Given the description of an element on the screen output the (x, y) to click on. 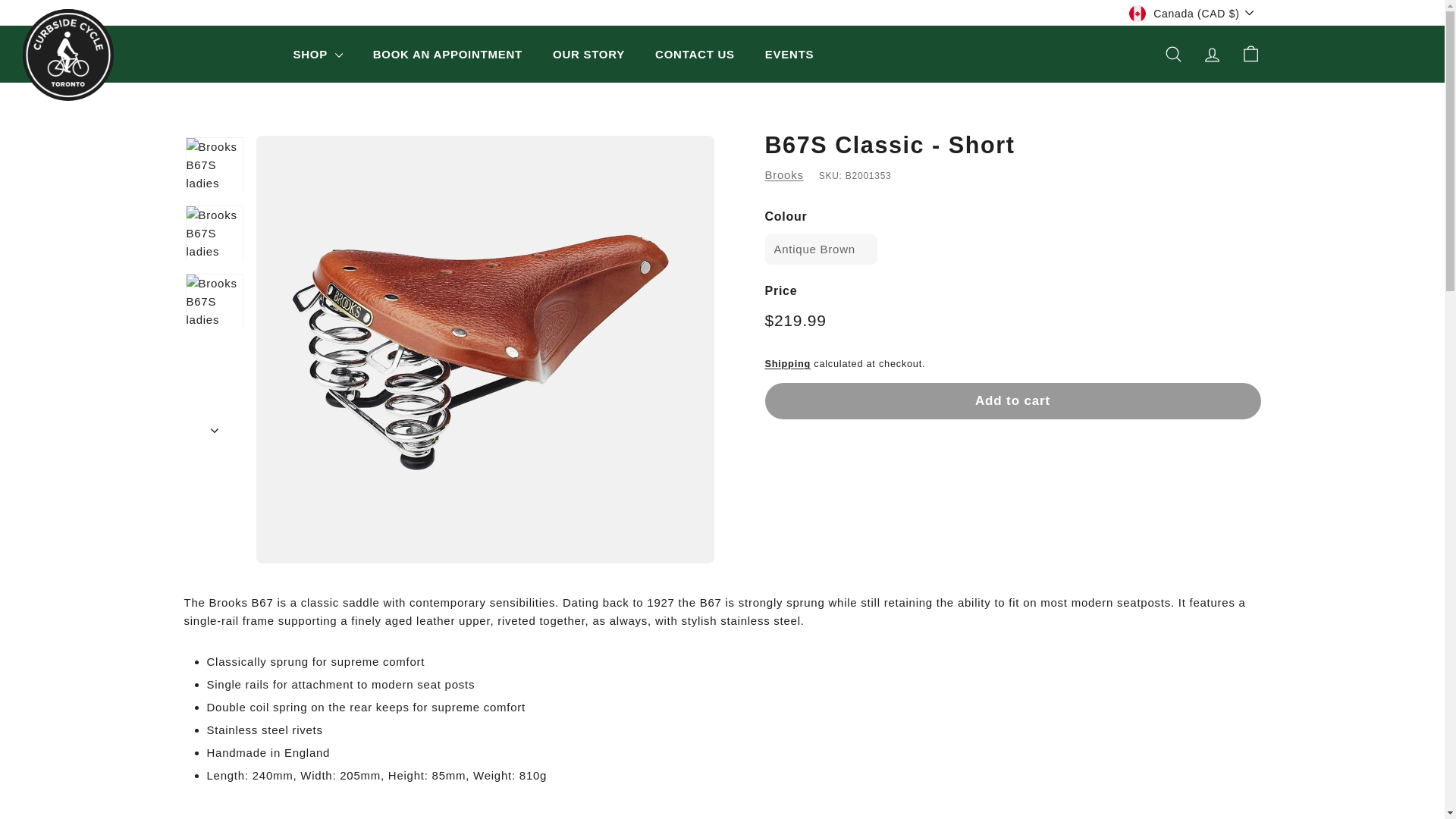
Brooks (783, 174)
icon-chevron (214, 430)
